Given the description of an element on the screen output the (x, y) to click on. 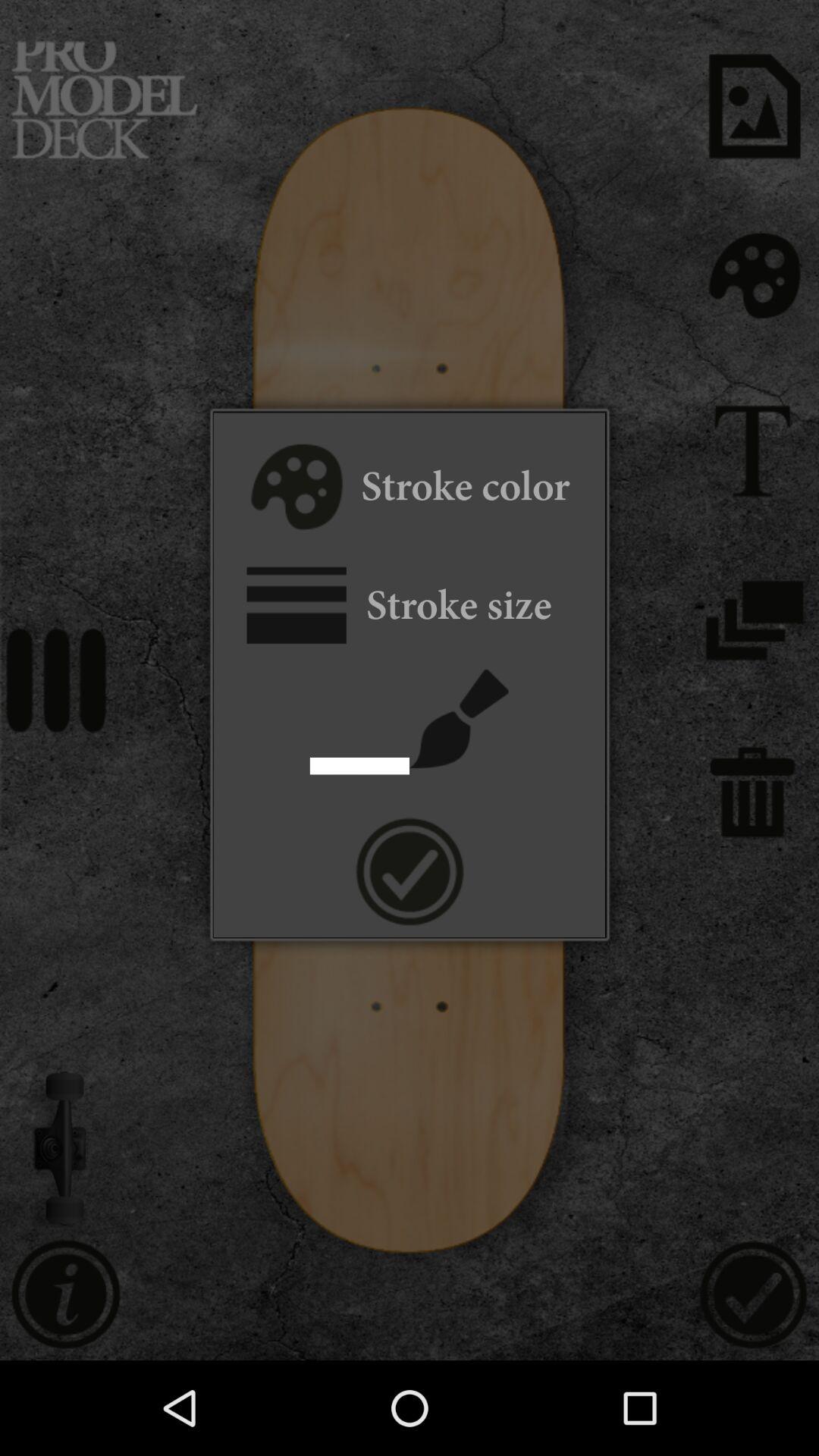
toggle brush (459, 718)
